Given the description of an element on the screen output the (x, y) to click on. 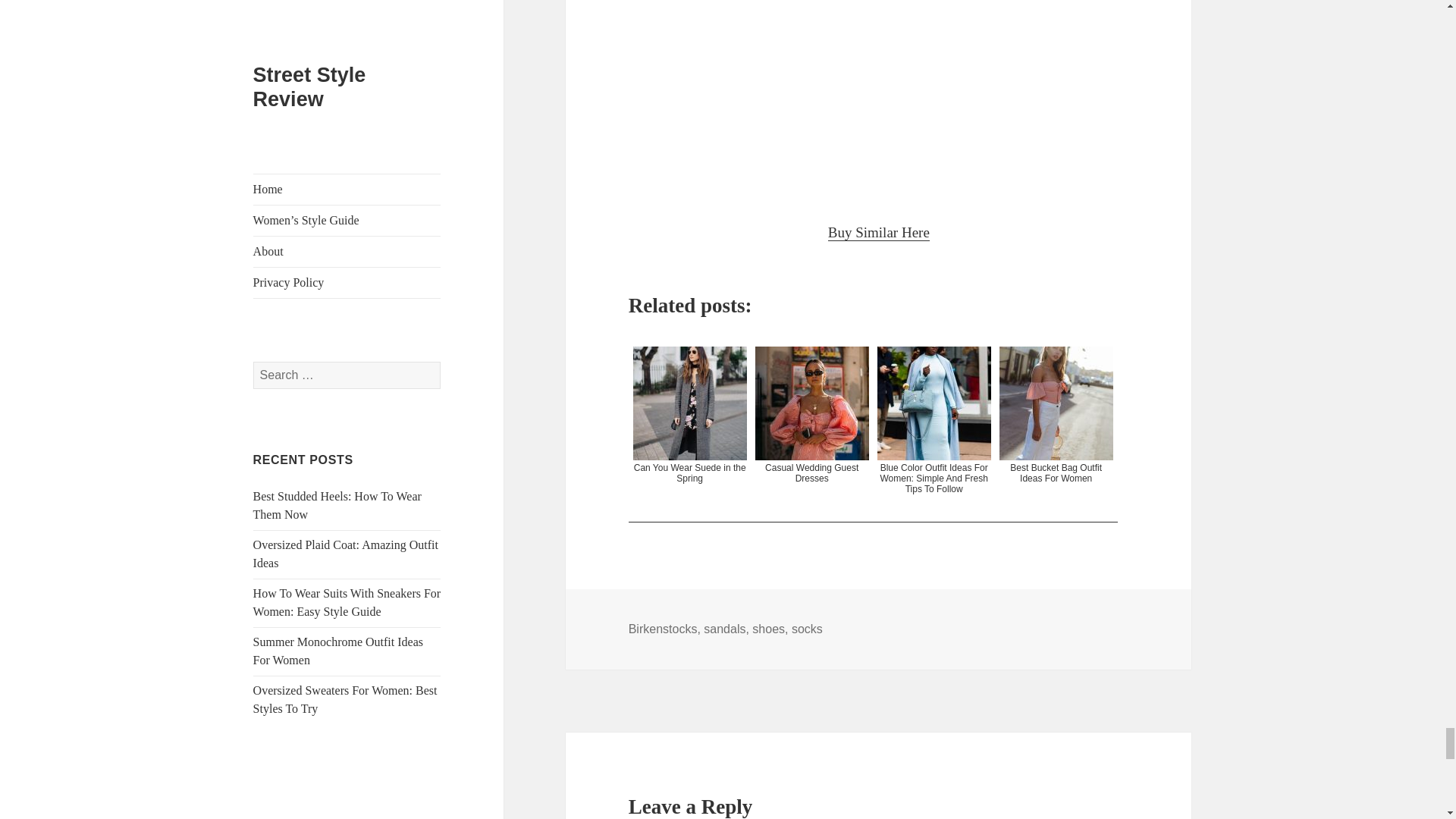
Can You Wear Suede in the Spring (689, 432)
Best Bucket Bag Outfit Ideas For Women (1056, 432)
Buy Similar Here (879, 232)
Casual Wedding Guest Dresses (812, 432)
